Given the description of an element on the screen output the (x, y) to click on. 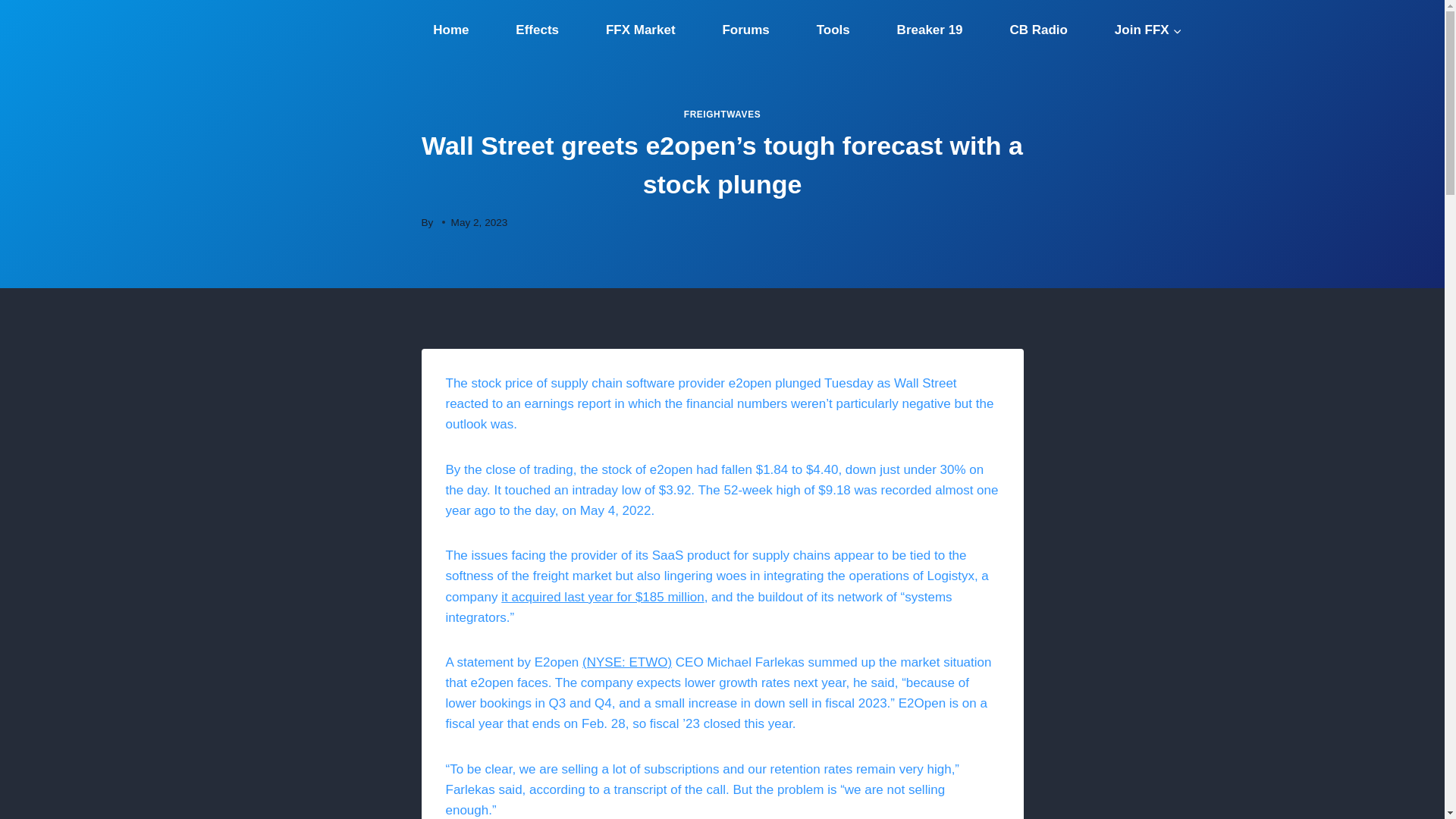
Breaker 19 (929, 30)
Join FFX (1148, 30)
FFX Market (639, 30)
Effects (536, 30)
Home (451, 30)
FREIGHTWAVES (722, 113)
Forums (745, 30)
Tools (833, 30)
CB Radio (1038, 30)
